Given the description of an element on the screen output the (x, y) to click on. 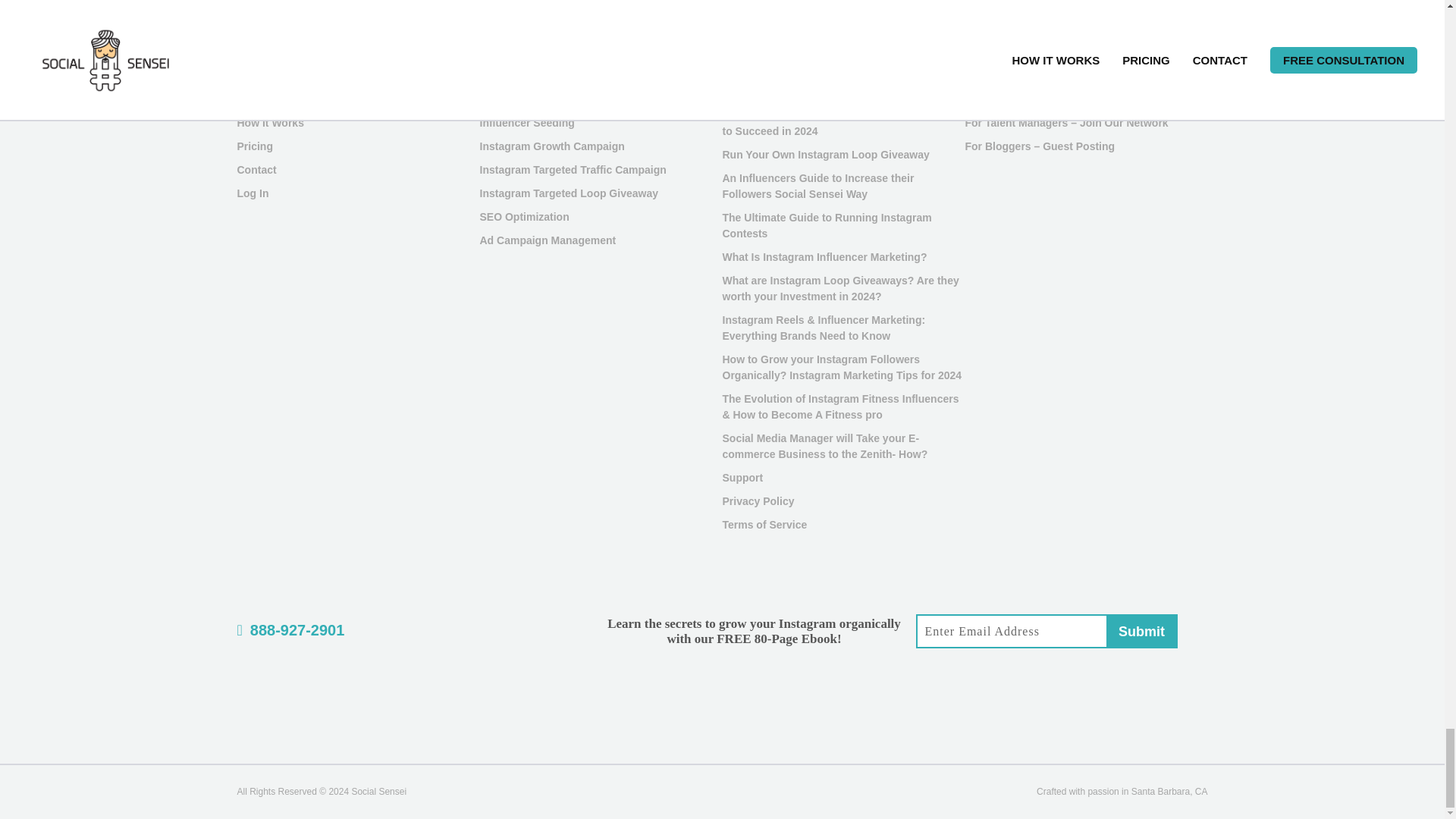
Home (250, 51)
Blog (247, 99)
About (250, 75)
